Given the description of an element on the screen output the (x, y) to click on. 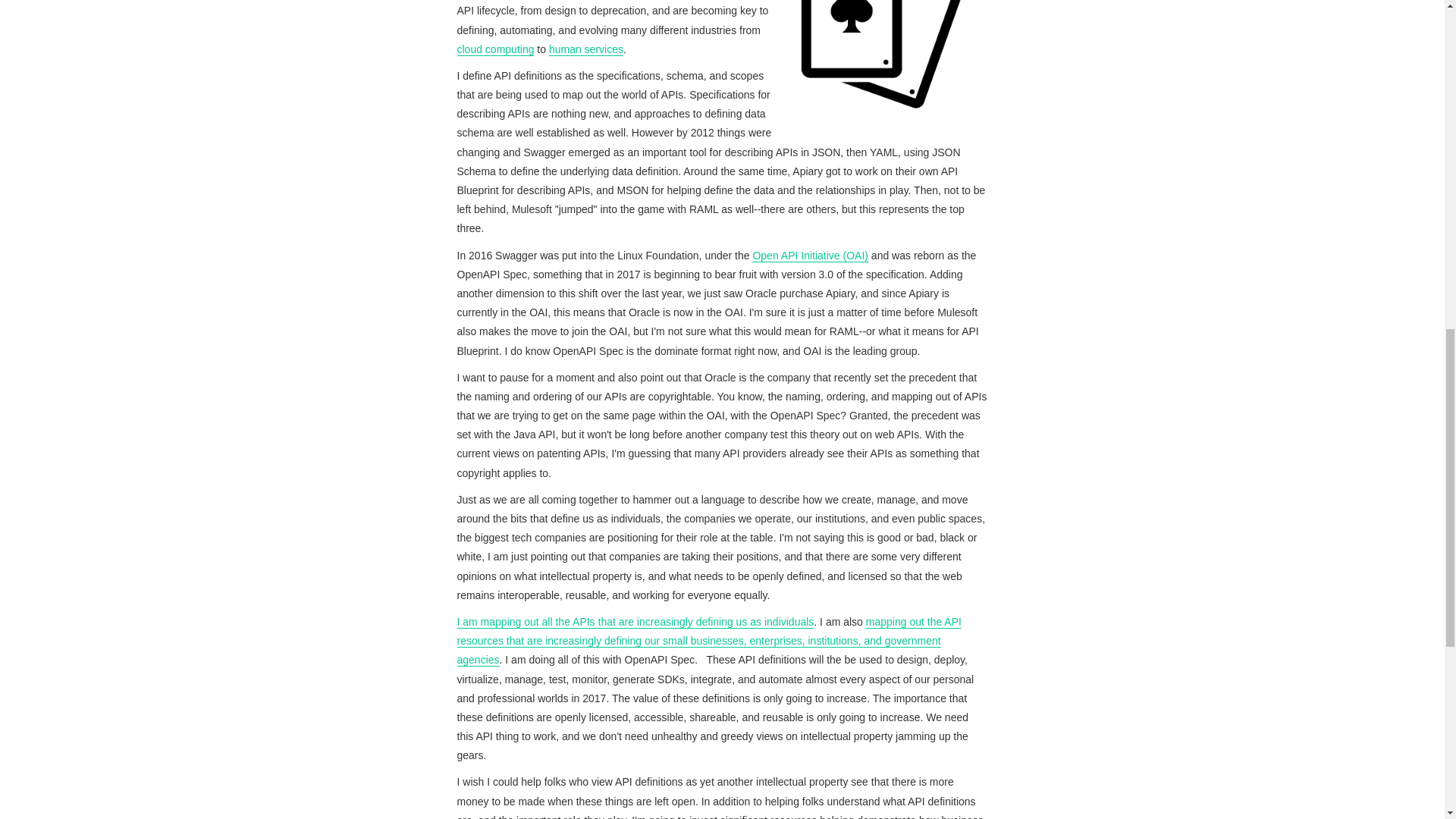
cloud computing (495, 49)
human services (585, 49)
